Given the description of an element on the screen output the (x, y) to click on. 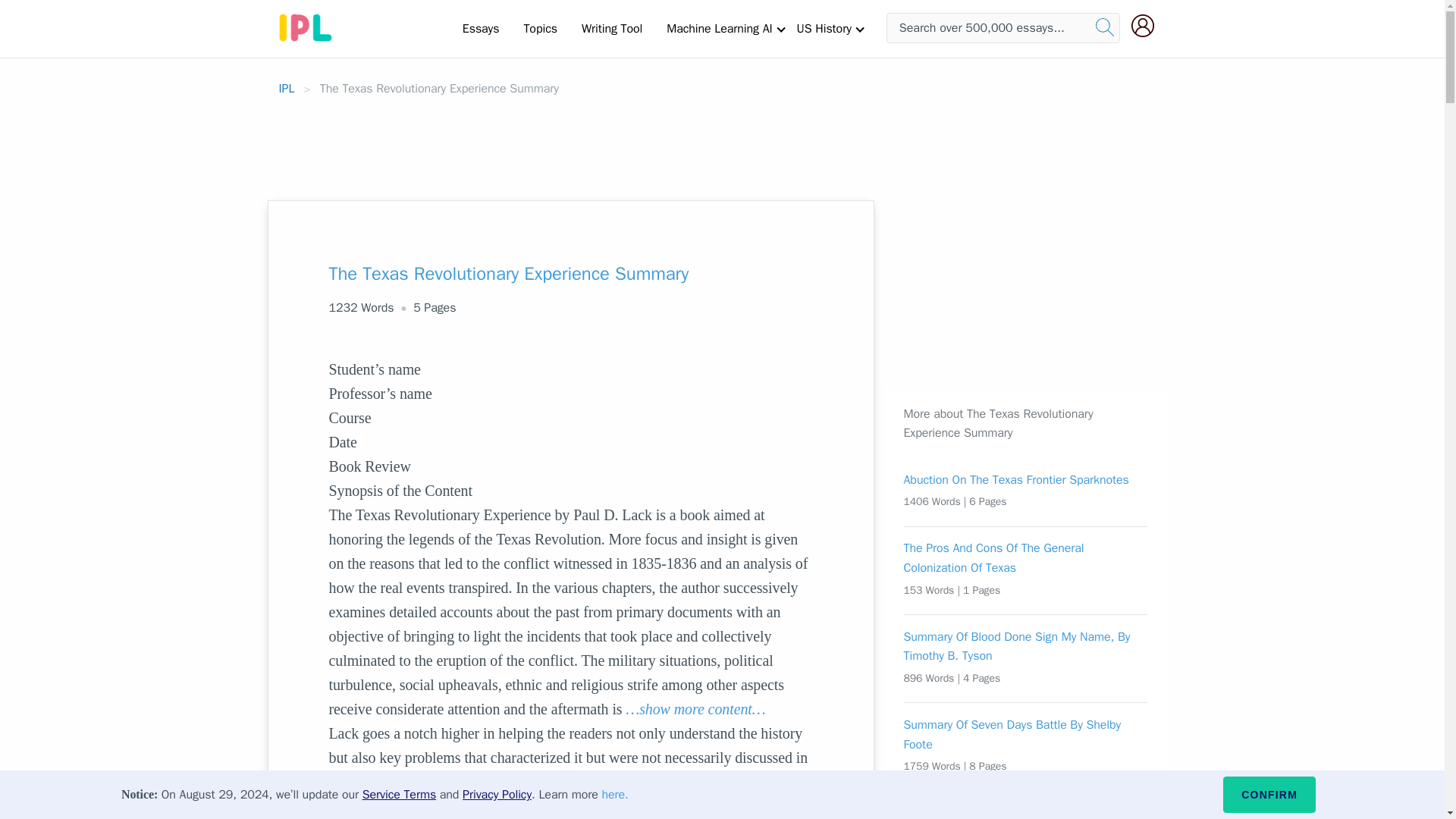
Machine Learning AI (718, 28)
Essays (480, 28)
Writing Tool (611, 28)
Topics (540, 28)
IPL (287, 88)
US History (823, 28)
